Given the description of an element on the screen output the (x, y) to click on. 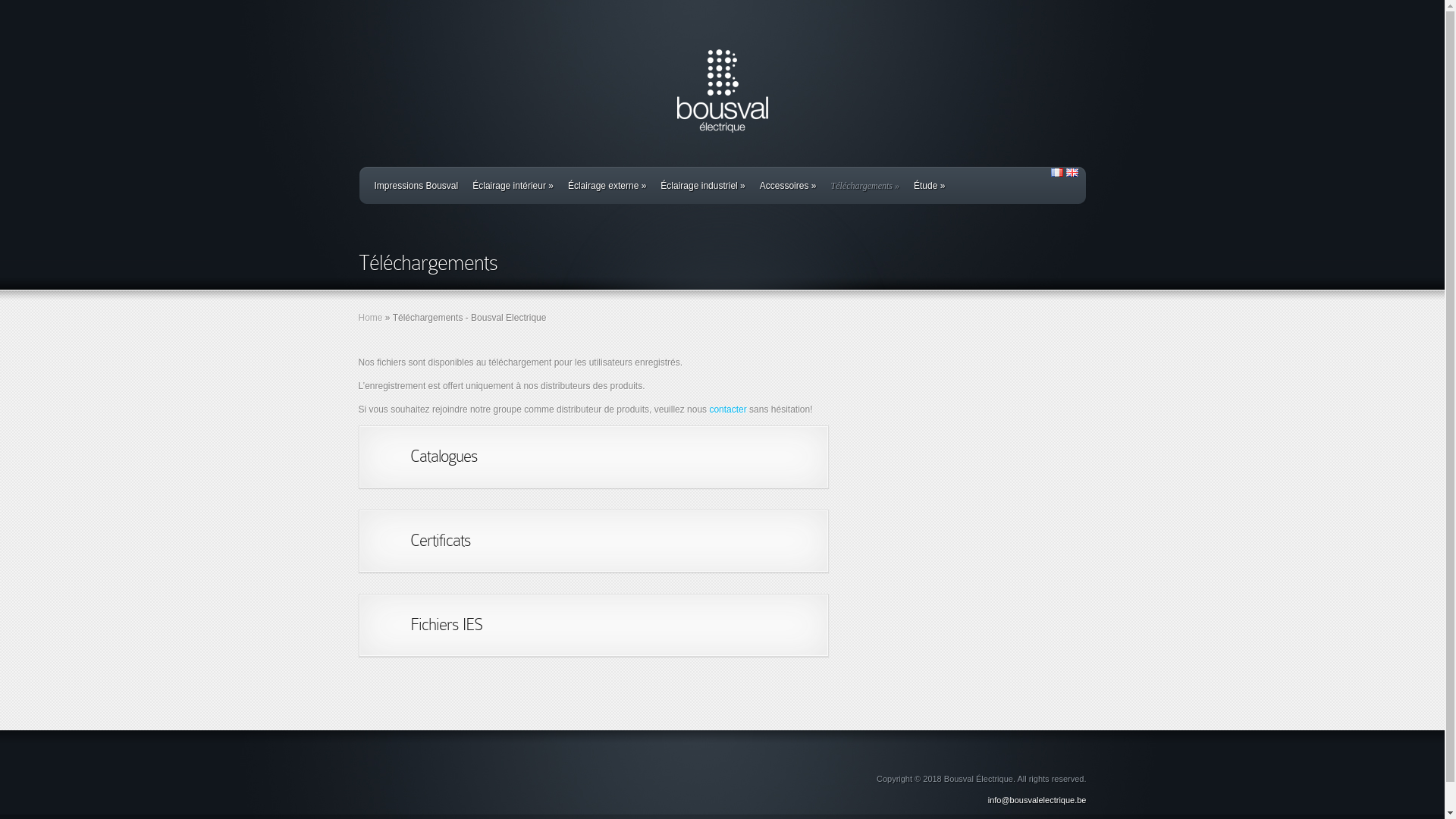
Home Element type: text (369, 317)
Certificats Element type: text (439, 539)
Impressions Bousval Element type: text (416, 185)
contacter Element type: text (727, 409)
info@bousvalelectrique.be Element type: text (1037, 799)
Catalogues Element type: text (442, 455)
Fichiers IES Element type: text (445, 624)
English Element type: hover (1072, 172)
